Given the description of an element on the screen output the (x, y) to click on. 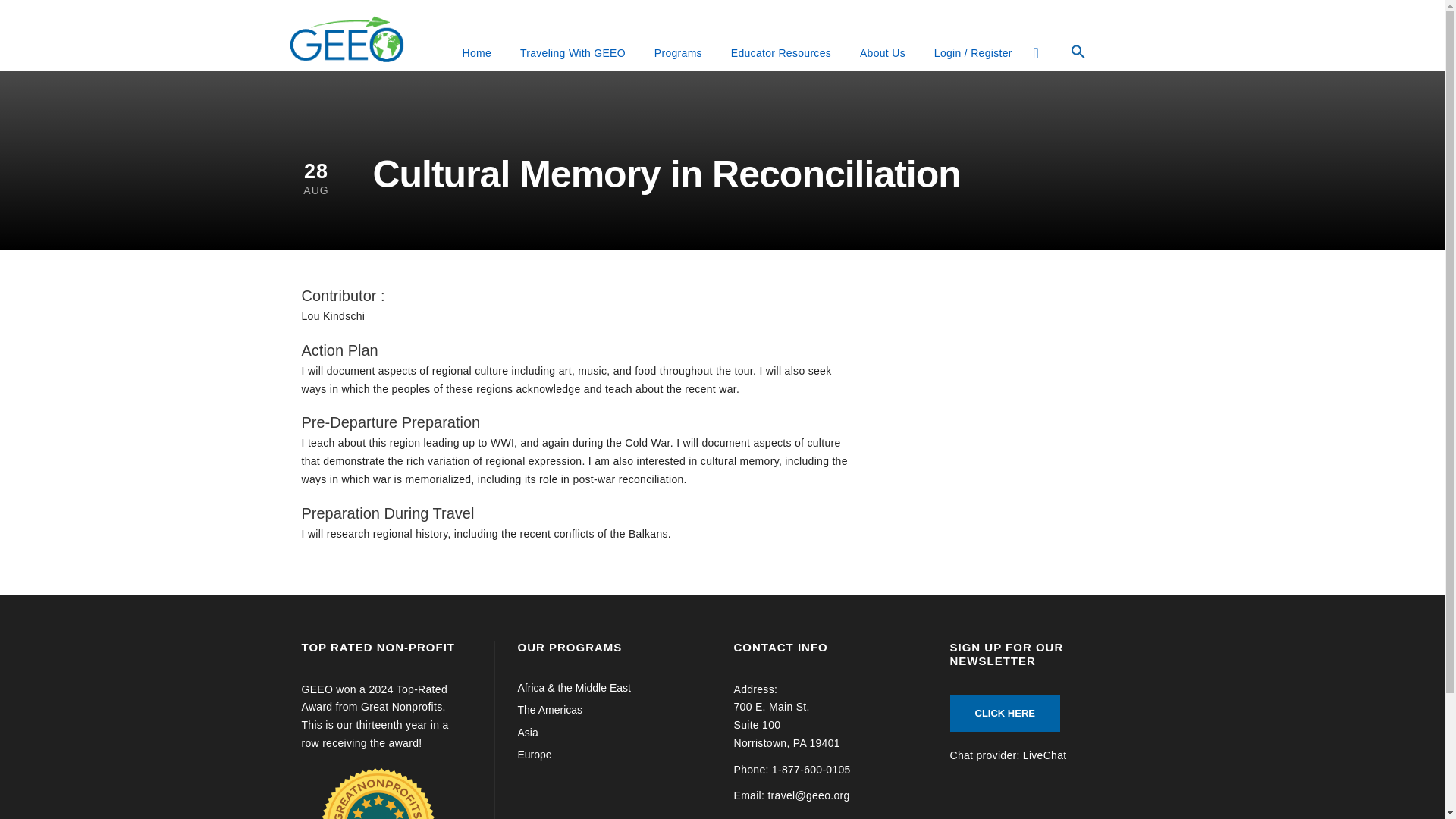
Traveling With GEEO (572, 52)
Home (476, 52)
Programs (678, 52)
About Us (882, 52)
Educator Resources (780, 52)
Top-rated nonprofits and charities (376, 793)
